Given the description of an element on the screen output the (x, y) to click on. 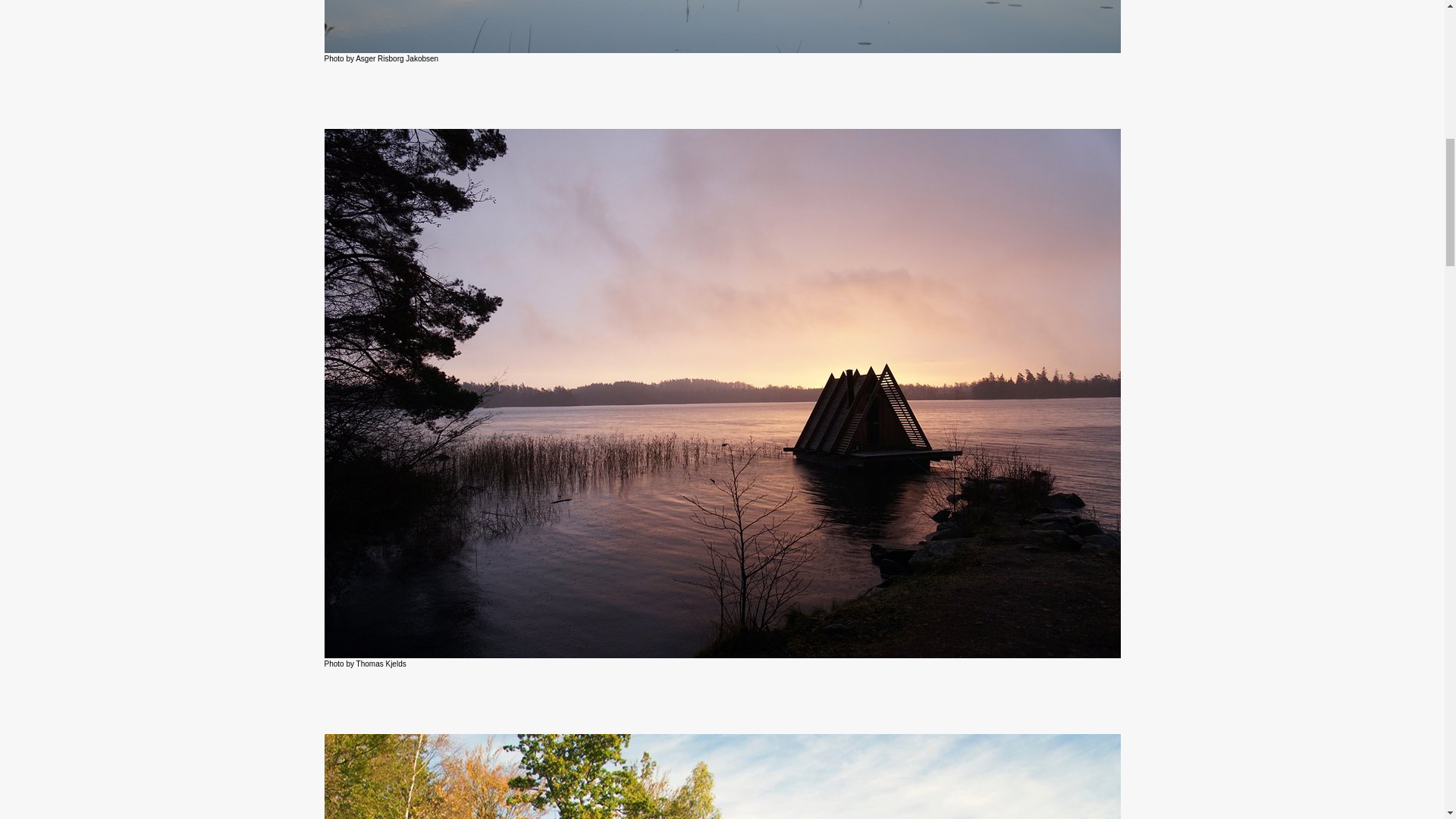
The triangular facade of a floating sauna (722, 776)
A floating sauna on a lake (722, 26)
